Given the description of an element on the screen output the (x, y) to click on. 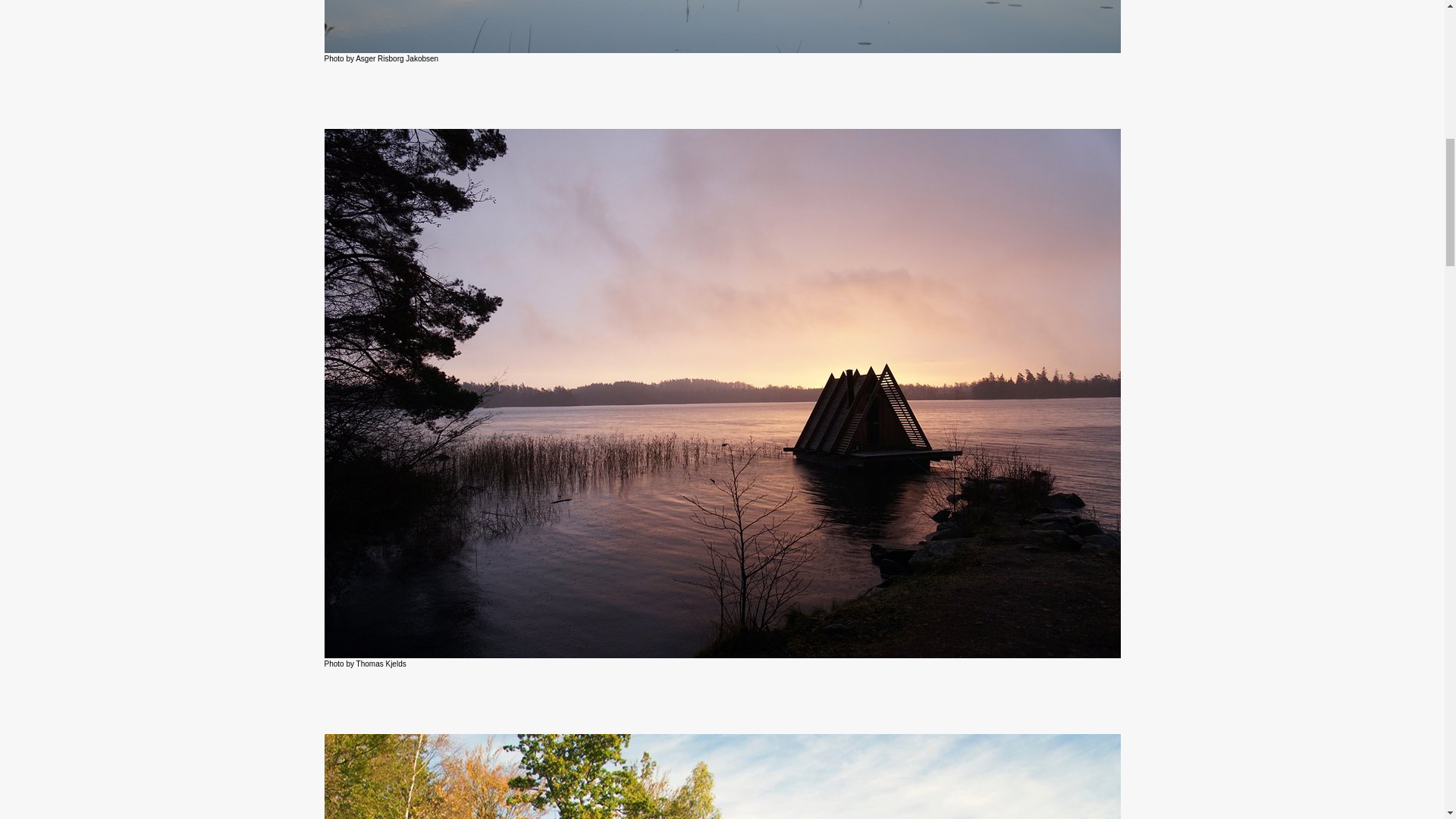
The triangular facade of a floating sauna (722, 776)
A floating sauna on a lake (722, 26)
